Given the description of an element on the screen output the (x, y) to click on. 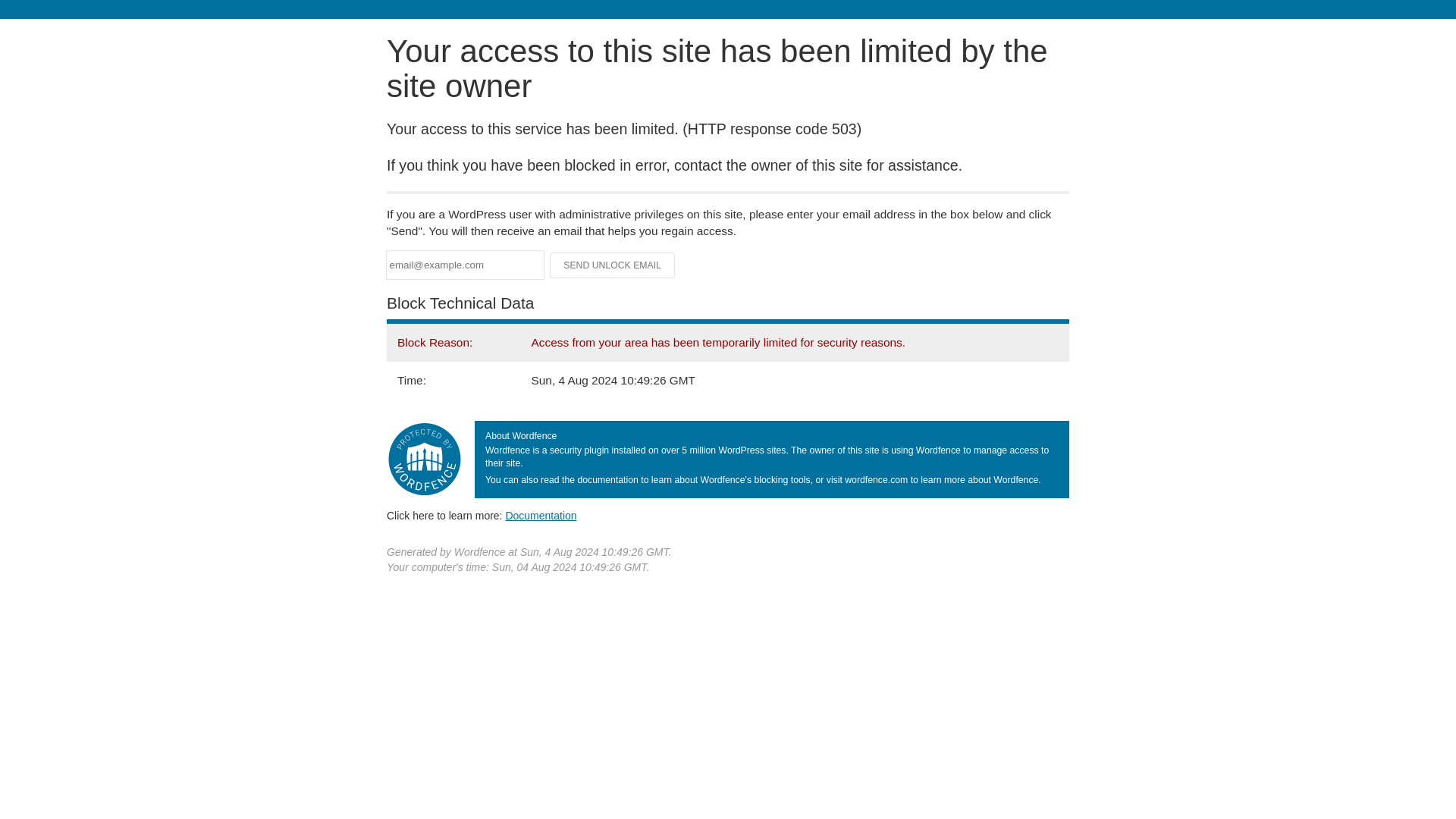
Send Unlock Email (612, 265)
Documentation (540, 515)
Send Unlock Email (612, 265)
